Given the description of an element on the screen output the (x, y) to click on. 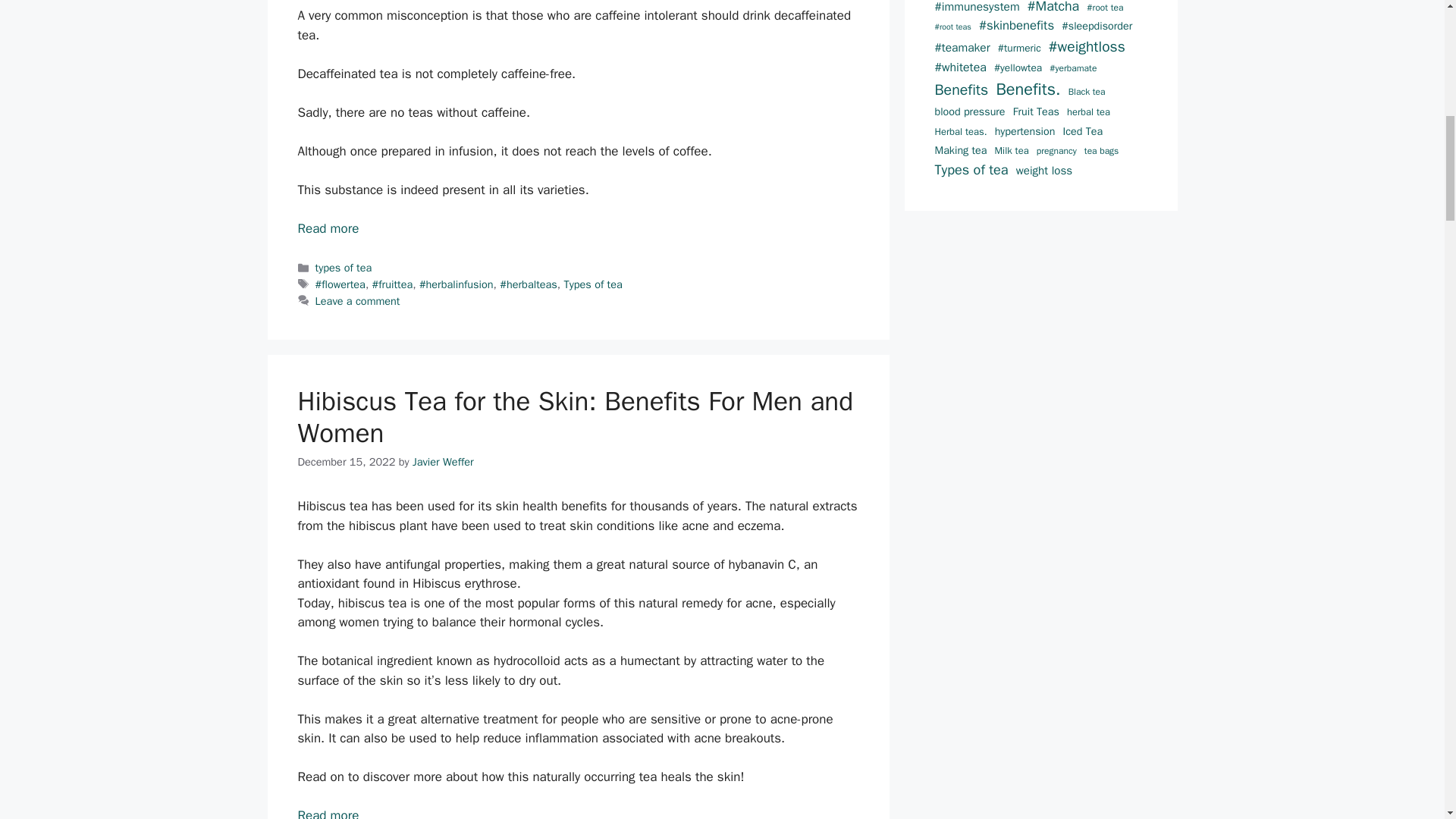
Read more (327, 813)
View all posts by Javier Weffer (443, 461)
Javier Weffer (443, 461)
Are caffeine-free tea really caffeine-free? (327, 228)
Types of tea (592, 284)
Hibiscus Tea for the Skin: Benefits For Men and Women (327, 813)
Hibiscus Tea for the Skin: Benefits For Men and Women (575, 416)
Read more (327, 228)
Leave a comment (357, 300)
types of tea (343, 267)
